Given the description of an element on the screen output the (x, y) to click on. 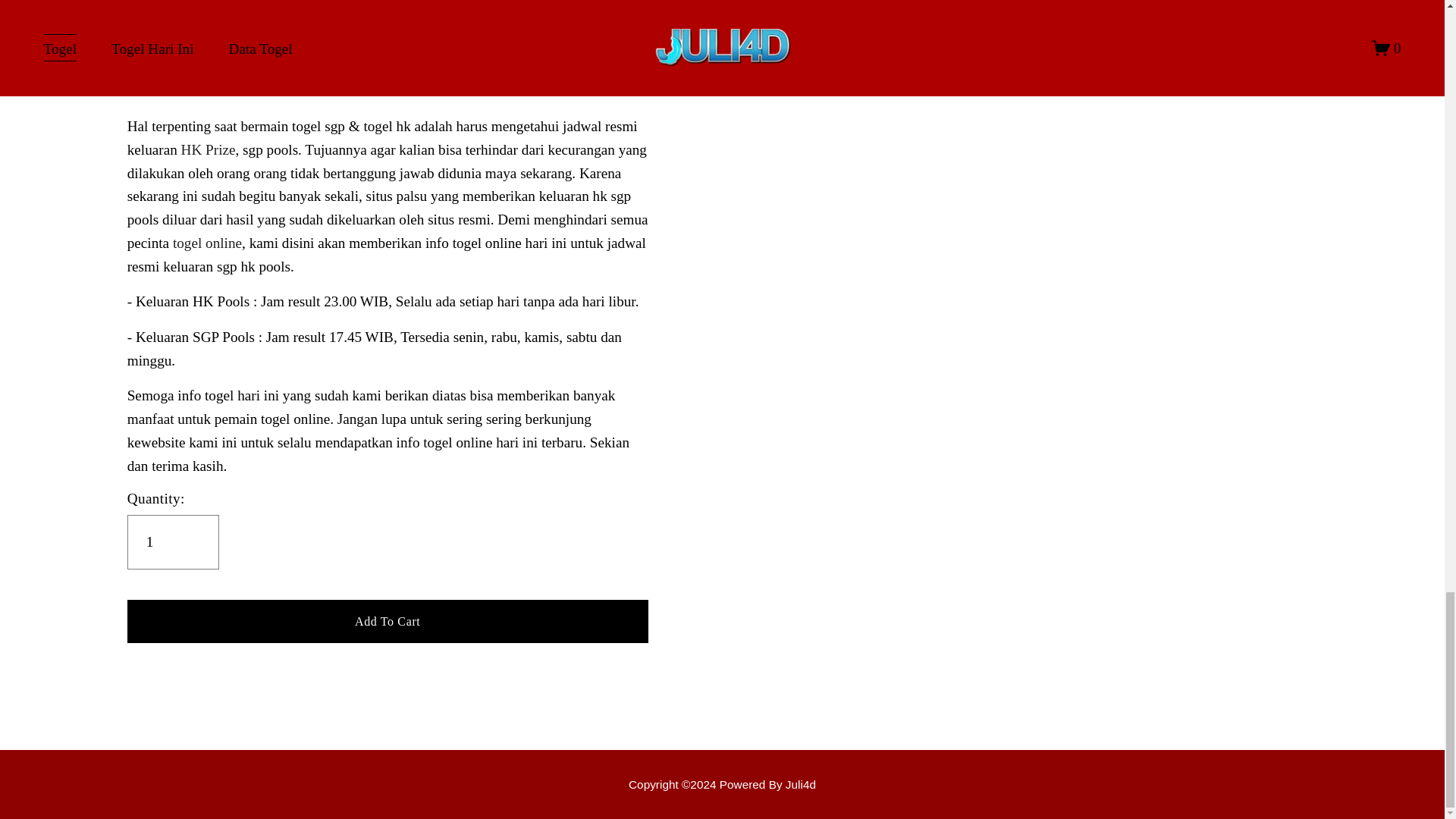
Keluaran HK (721, 784)
togel online (207, 242)
Add To Cart (387, 620)
1 (173, 542)
HK Prize (207, 149)
